Given the description of an element on the screen output the (x, y) to click on. 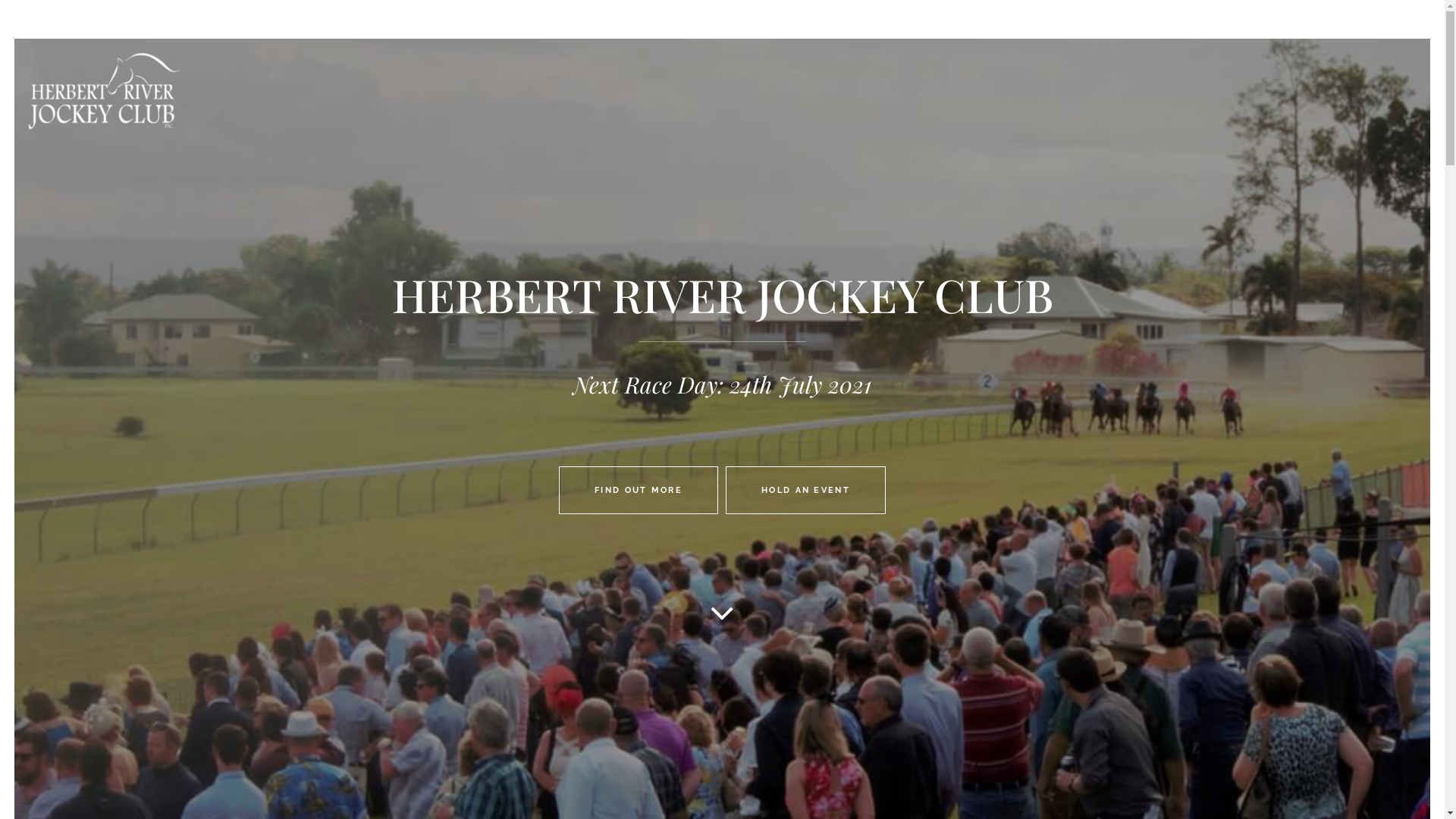
HOLD AN EVENT Element type: text (805, 490)
FIND OUT MORE Element type: text (638, 490)
